Given the description of an element on the screen output the (x, y) to click on. 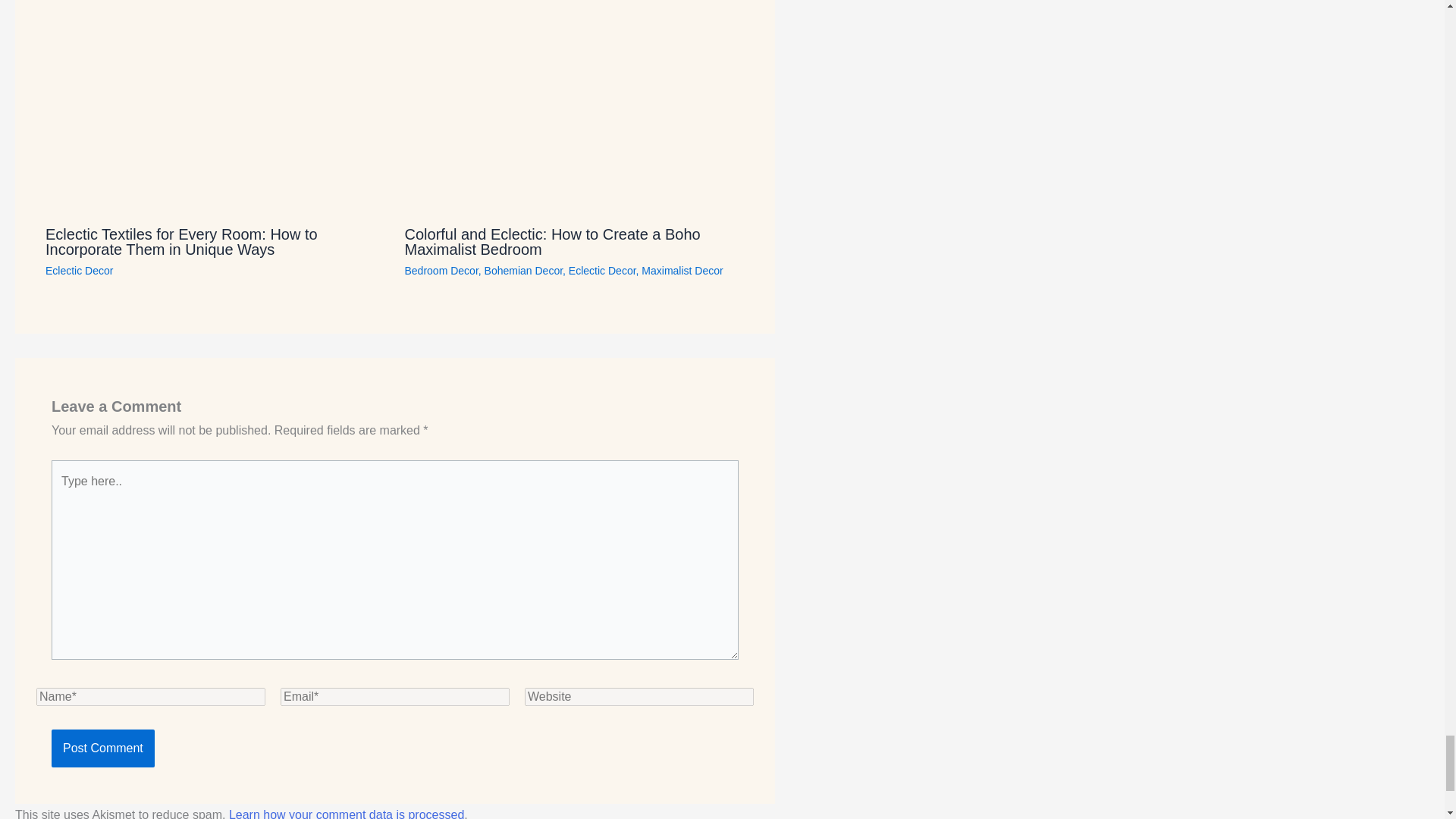
Post Comment (102, 748)
